Given the description of an element on the screen output the (x, y) to click on. 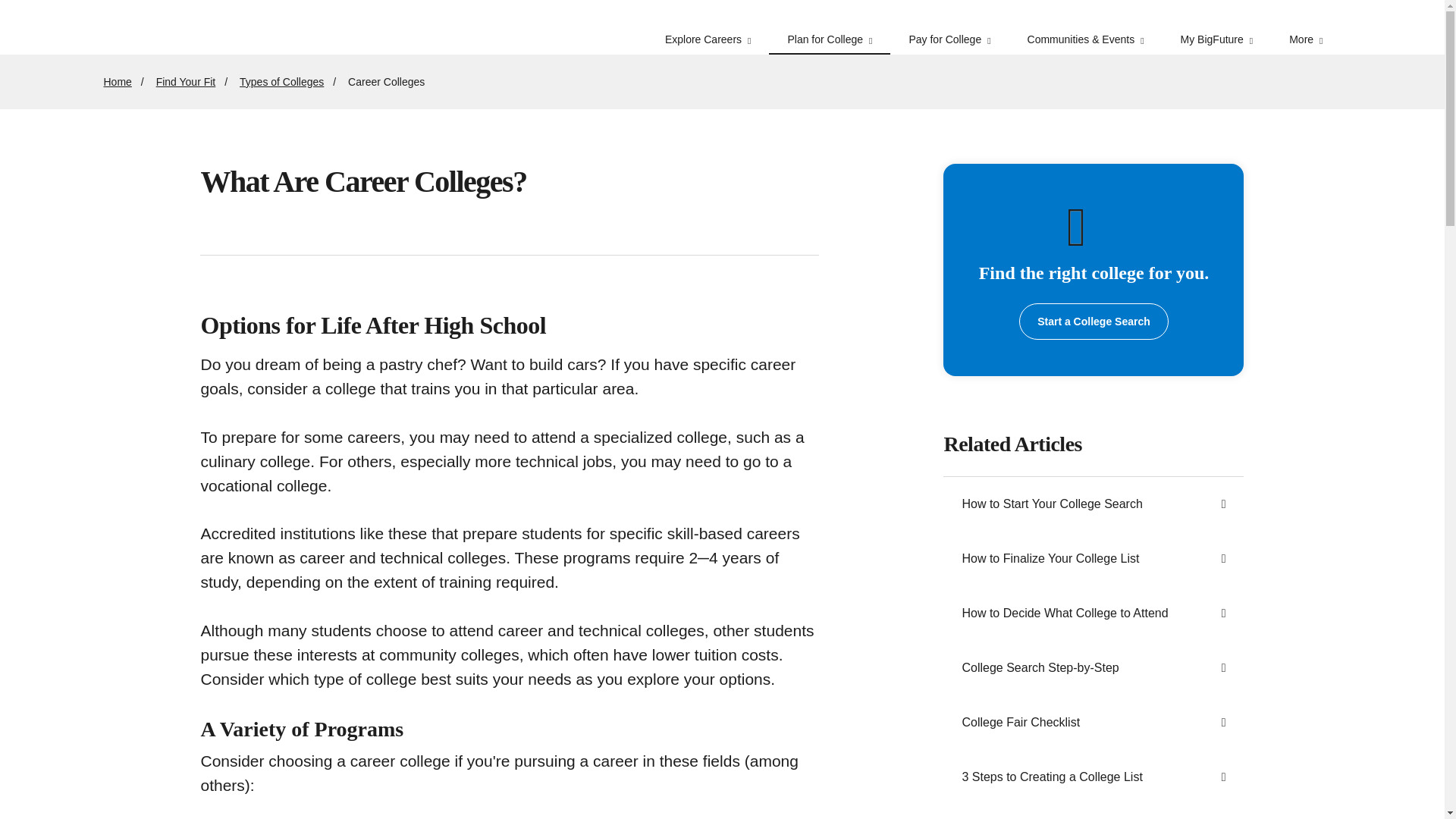
Explore Careers (708, 27)
Opens in a new window (1094, 321)
Pay for College (949, 27)
Plan for College (828, 27)
My BigFuture (1216, 27)
